Given the description of an element on the screen output the (x, y) to click on. 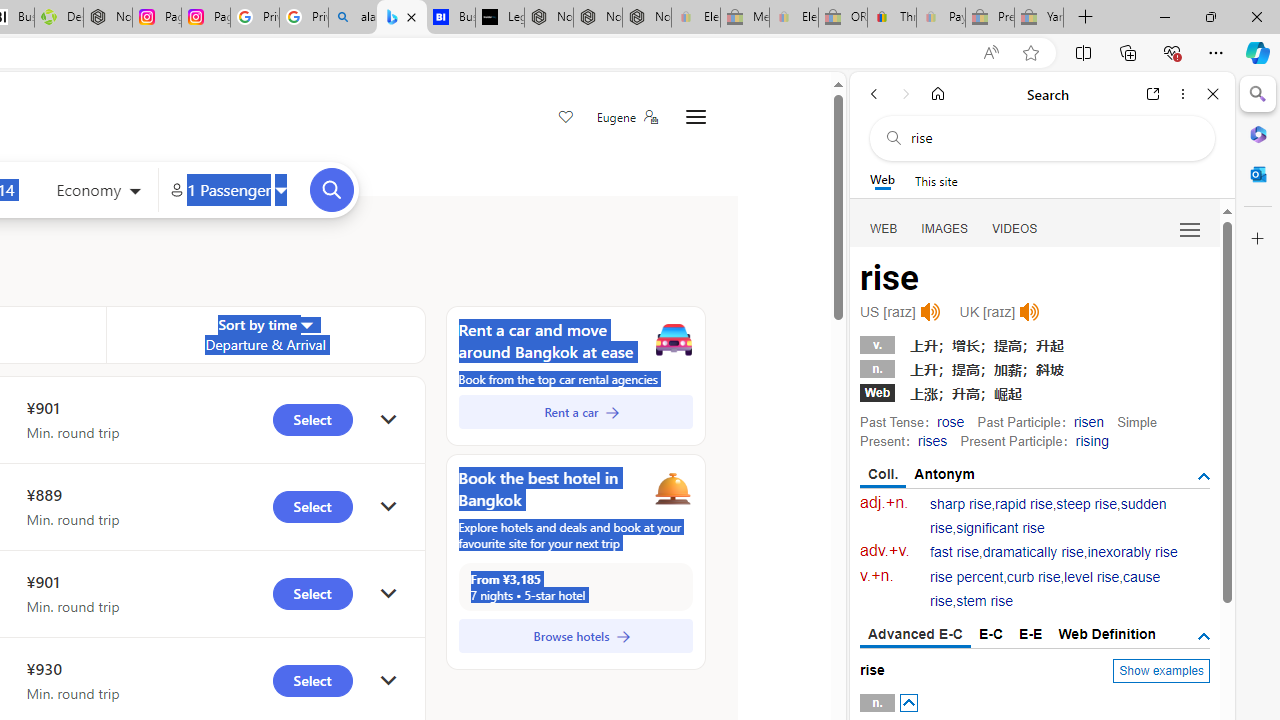
AutomationID: tgsb (1203, 476)
This site scope (936, 180)
Web scope (882, 180)
Open link in new tab (1153, 93)
Eugene (626, 117)
E-C (991, 633)
risen (1088, 421)
fast rise (955, 552)
Press Room - eBay Inc. - Sleeping (989, 17)
Microsoft Bing Travel - Flights from Hong Kong to Bangkok (401, 17)
Search Filter, IMAGES (944, 228)
